Given the description of an element on the screen output the (x, y) to click on. 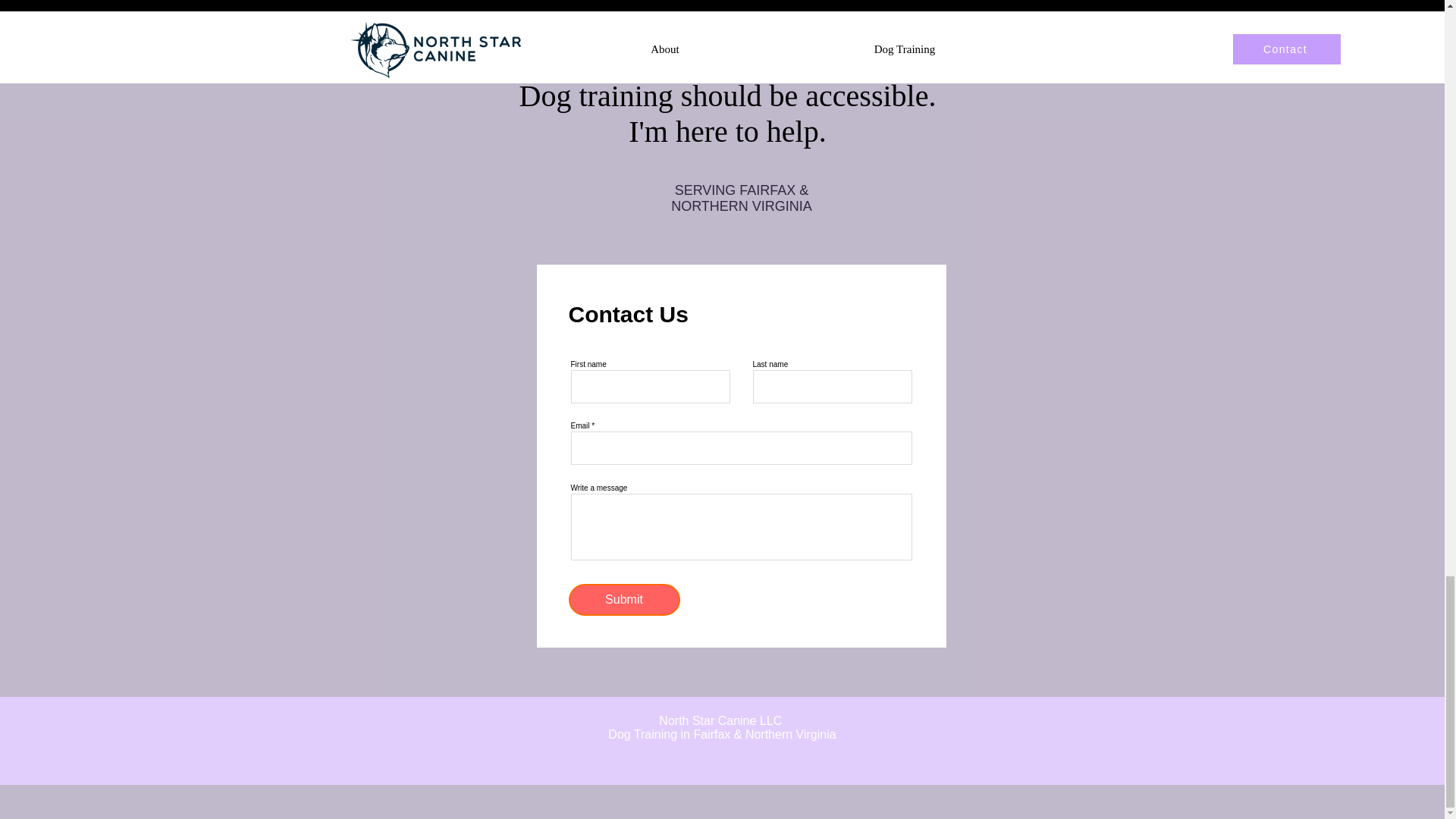
Submit (624, 599)
